Given the description of an element on the screen output the (x, y) to click on. 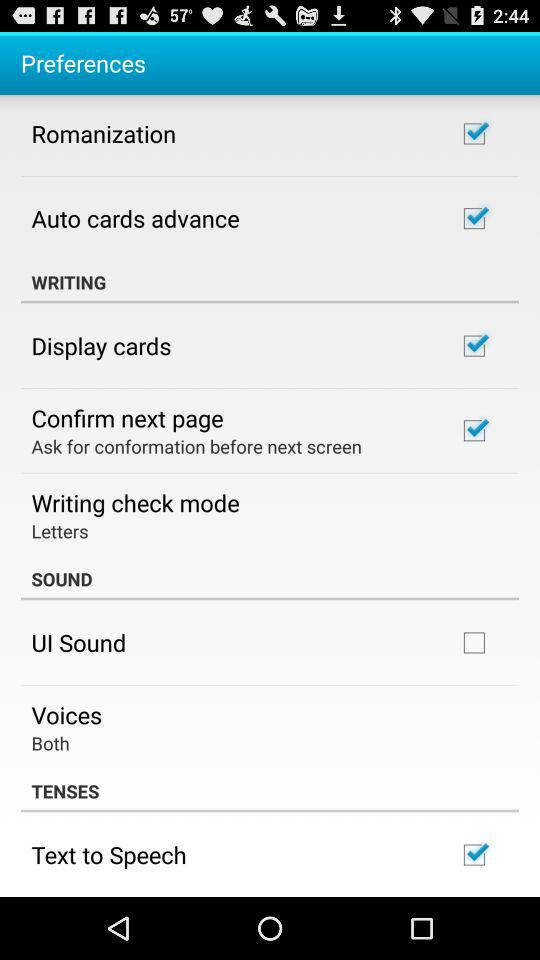
turn on the icon below confirm next page app (196, 445)
